Given the description of an element on the screen output the (x, y) to click on. 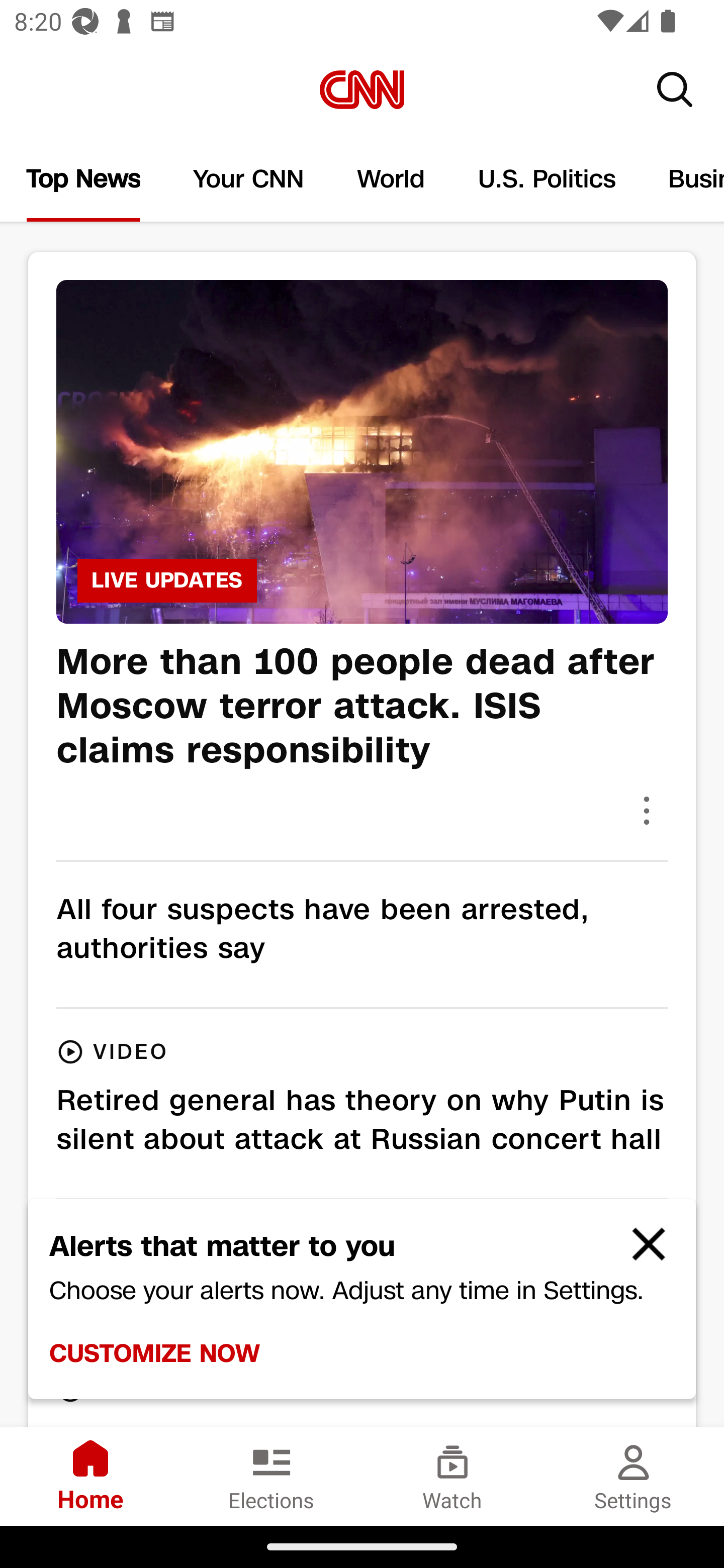
Your CNN (248, 179)
World (390, 179)
U.S. Politics (546, 179)
More actions (646, 810)
close (639, 1251)
Elections (271, 1475)
Watch (452, 1475)
Settings (633, 1475)
